Given the description of an element on the screen output the (x, y) to click on. 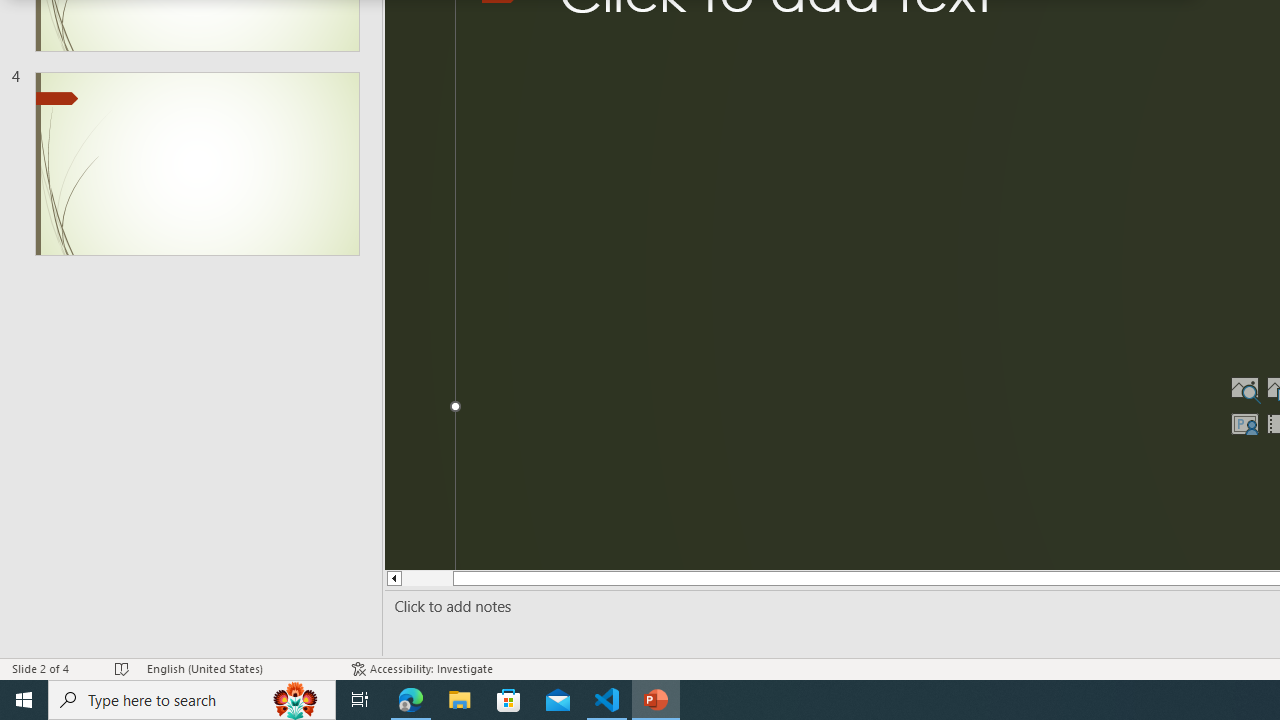
Microsoft Edge - 1 running window (411, 699)
Stock Images (1244, 387)
Insert Cameo (1244, 423)
